Given the description of an element on the screen output the (x, y) to click on. 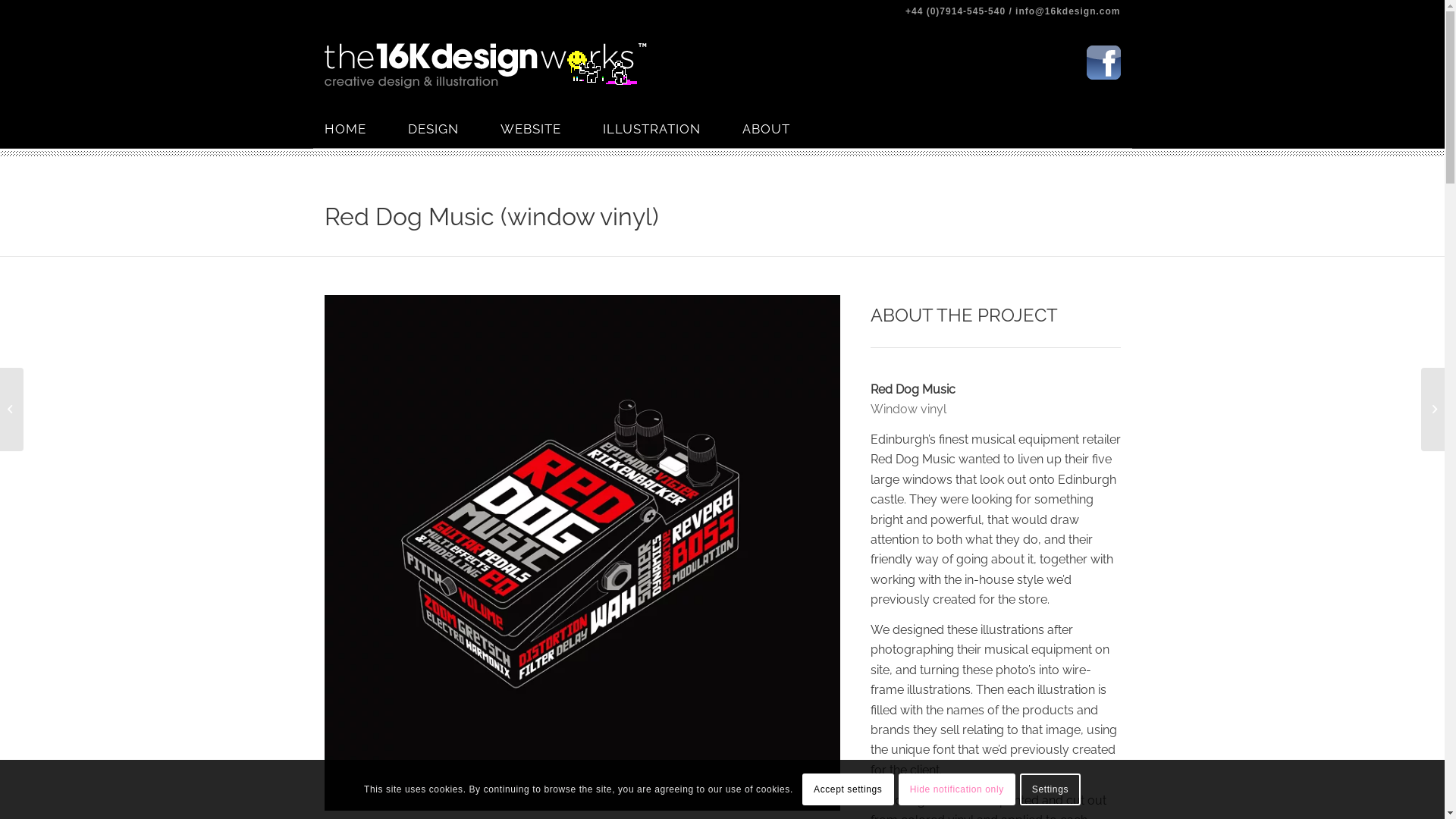
DESIGN Element type: text (453, 128)
16Klogo2 Element type: hover (485, 65)
Accept settings Element type: text (848, 789)
Red Dog Music (window vinyl) Element type: text (491, 216)
16Klogo2 Element type: hover (485, 65)
Hide notification only Element type: text (956, 789)
RedDog#2_Pedal_16K Element type: hover (582, 552)
HOME Element type: text (365, 128)
info@16kdesign.com Element type: text (1067, 11)
ABOUT Element type: text (786, 128)
Settings Element type: text (1049, 789)
WEBSITE Element type: text (551, 128)
ILLUSTRATION Element type: text (671, 128)
